Given the description of an element on the screen output the (x, y) to click on. 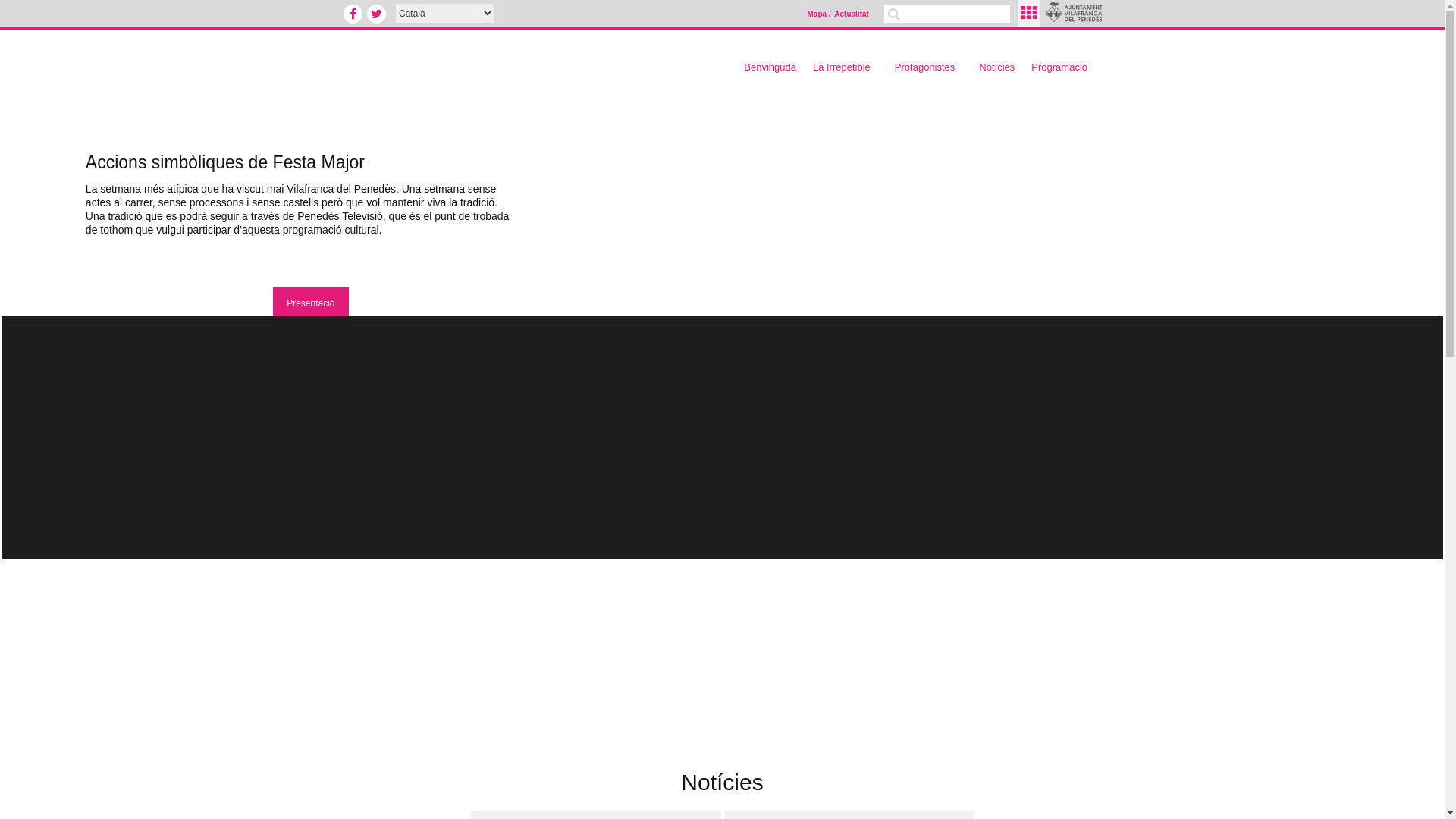
La Irrepetible Element type: text (845, 66)
Inici Element type: hover (492, 60)
Actualitat Element type: text (851, 14)
Anterior Element type: text (24, 265)
Benvinguda Element type: text (770, 66)
Mapa Element type: text (816, 14)
Protagonistes Element type: text (928, 66)
